Given the description of an element on the screen output the (x, y) to click on. 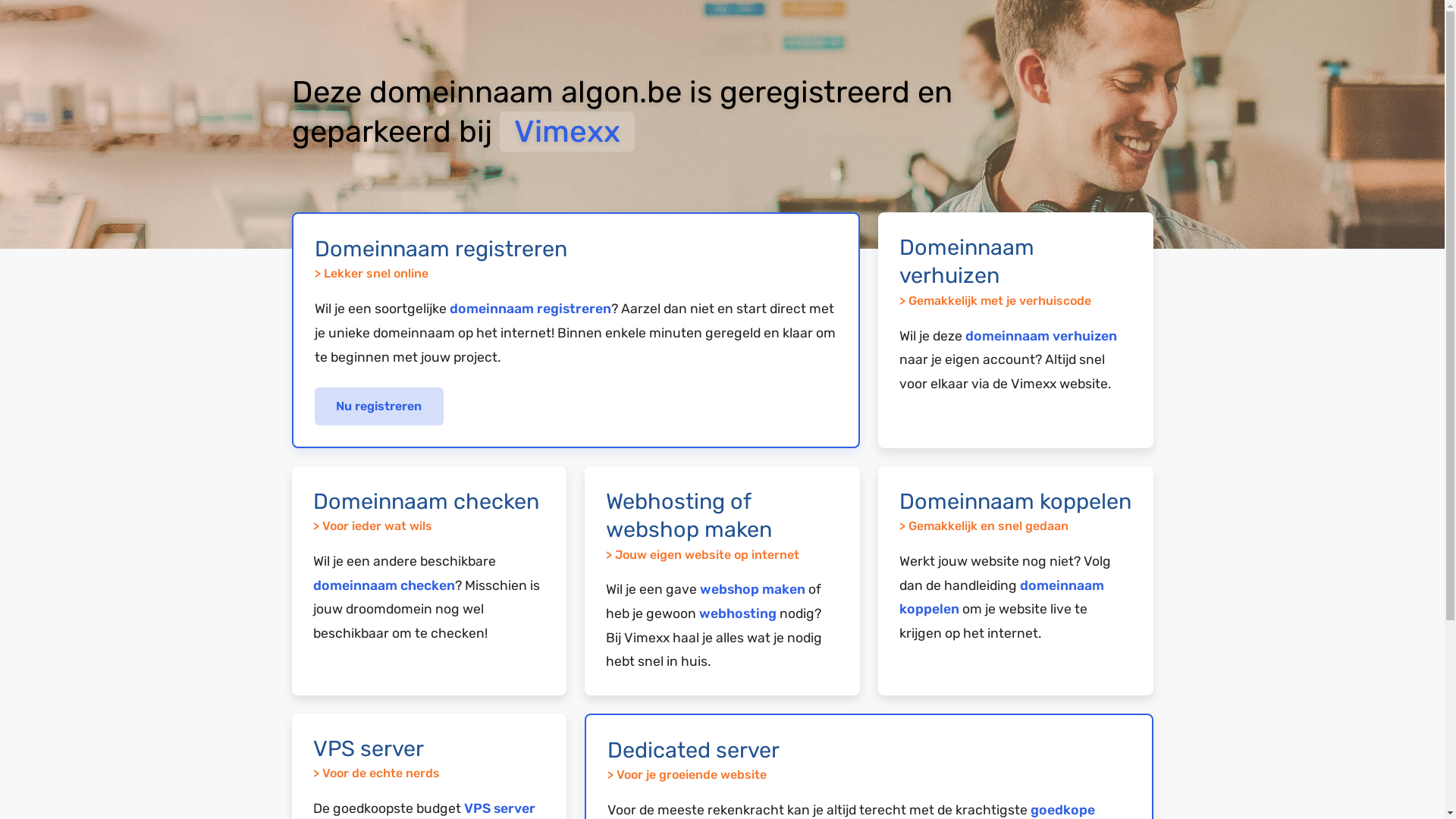
Vimexx Element type: text (565, 131)
webshop maken Element type: text (752, 588)
webhosting Element type: text (737, 613)
VPS server Element type: text (499, 807)
domeinnaam koppelen Element type: text (1001, 597)
domeinnaam verhuizen Element type: text (1041, 335)
domeinnaam checken Element type: text (383, 585)
Nu registreren Element type: text (378, 406)
domeinnaam registreren Element type: text (529, 308)
